Given the description of an element on the screen output the (x, y) to click on. 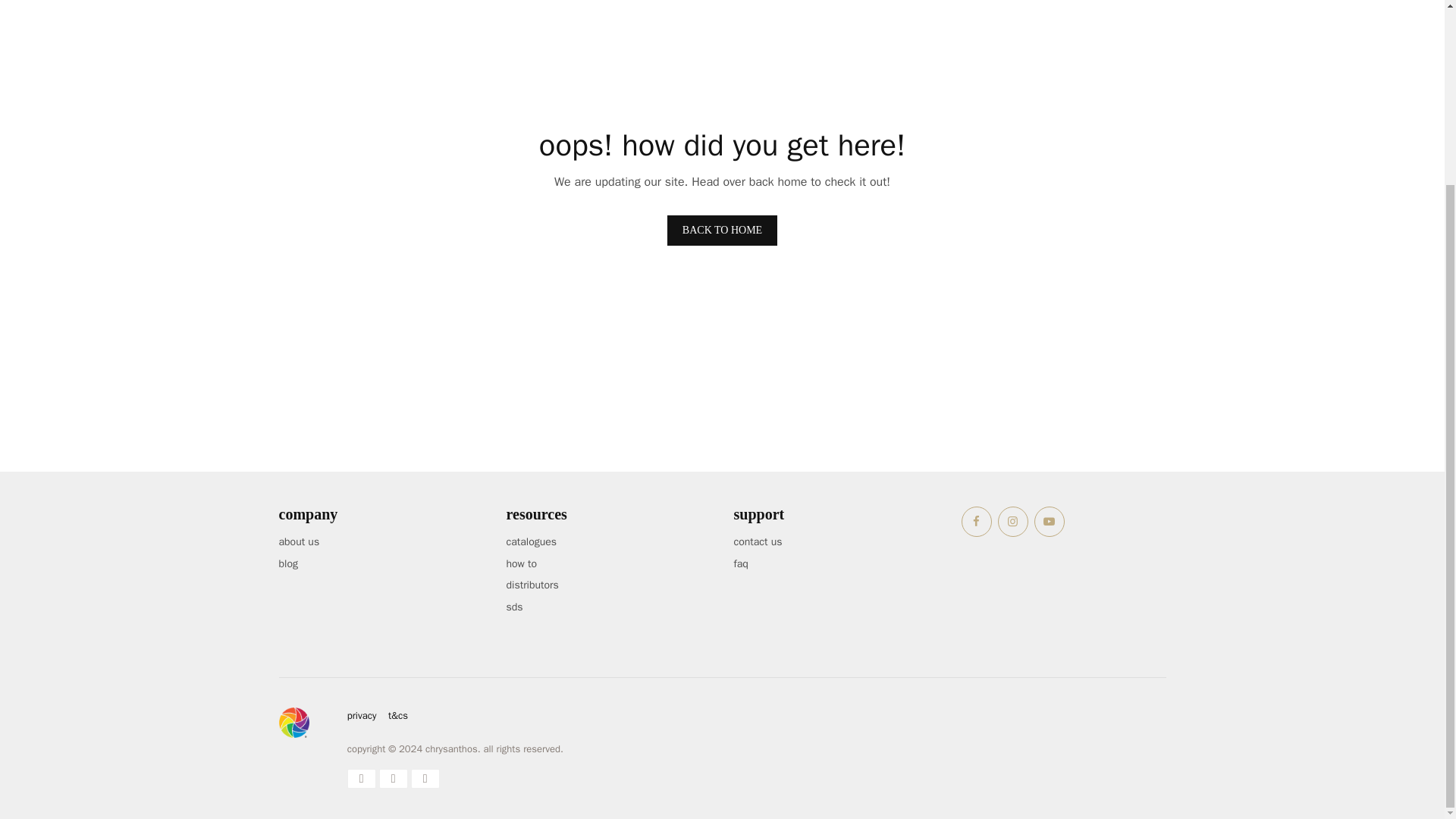
blog (288, 563)
how to (521, 563)
about us (299, 541)
contact us (758, 541)
privacy (362, 715)
BACK TO HOME (721, 230)
Chrysanthos (293, 722)
sds (514, 606)
distributors (532, 584)
catalogues (531, 541)
faq (740, 563)
